Given the description of an element on the screen output the (x, y) to click on. 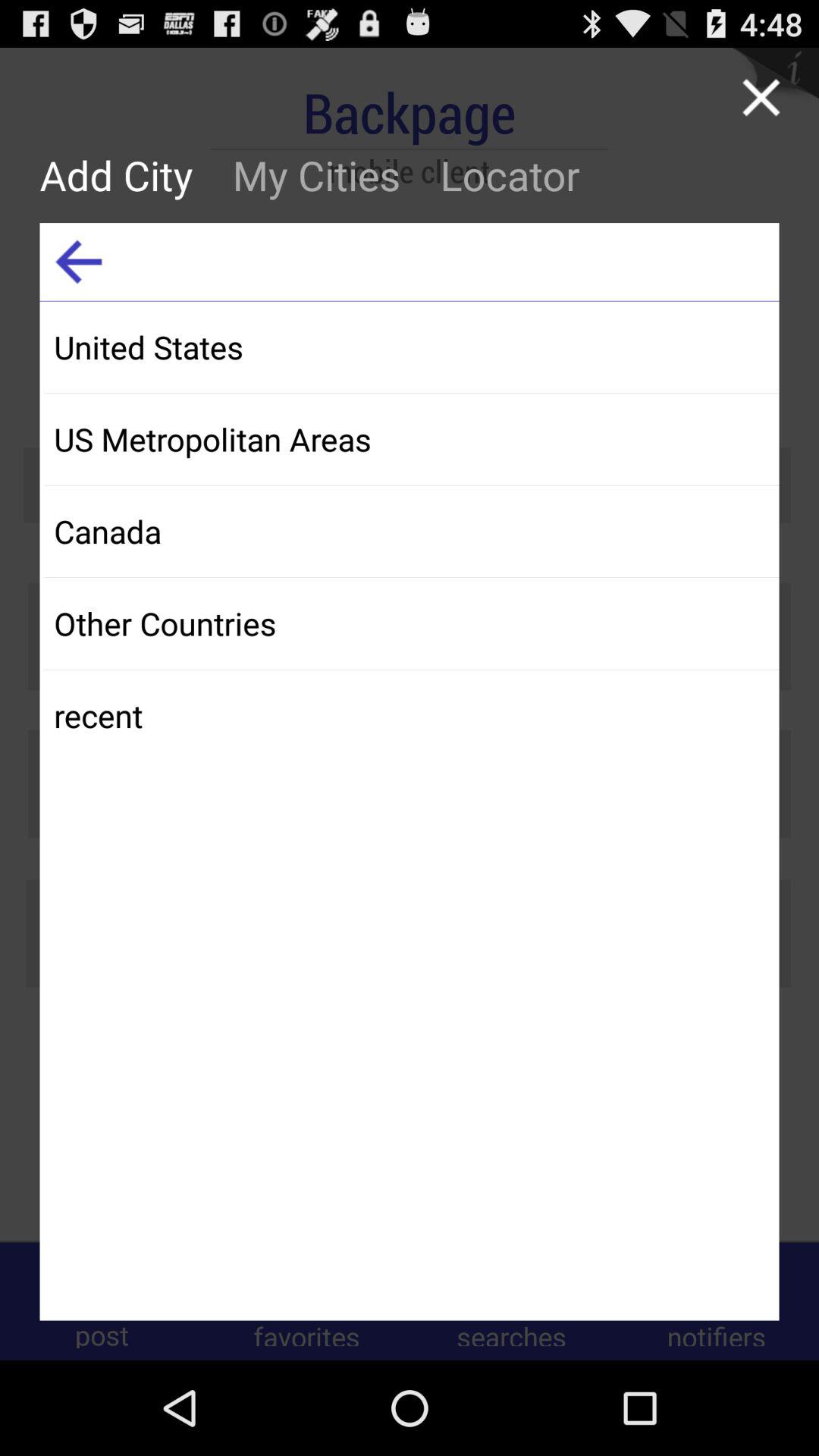
launch the item below other countries app (411, 715)
